Given the description of an element on the screen output the (x, y) to click on. 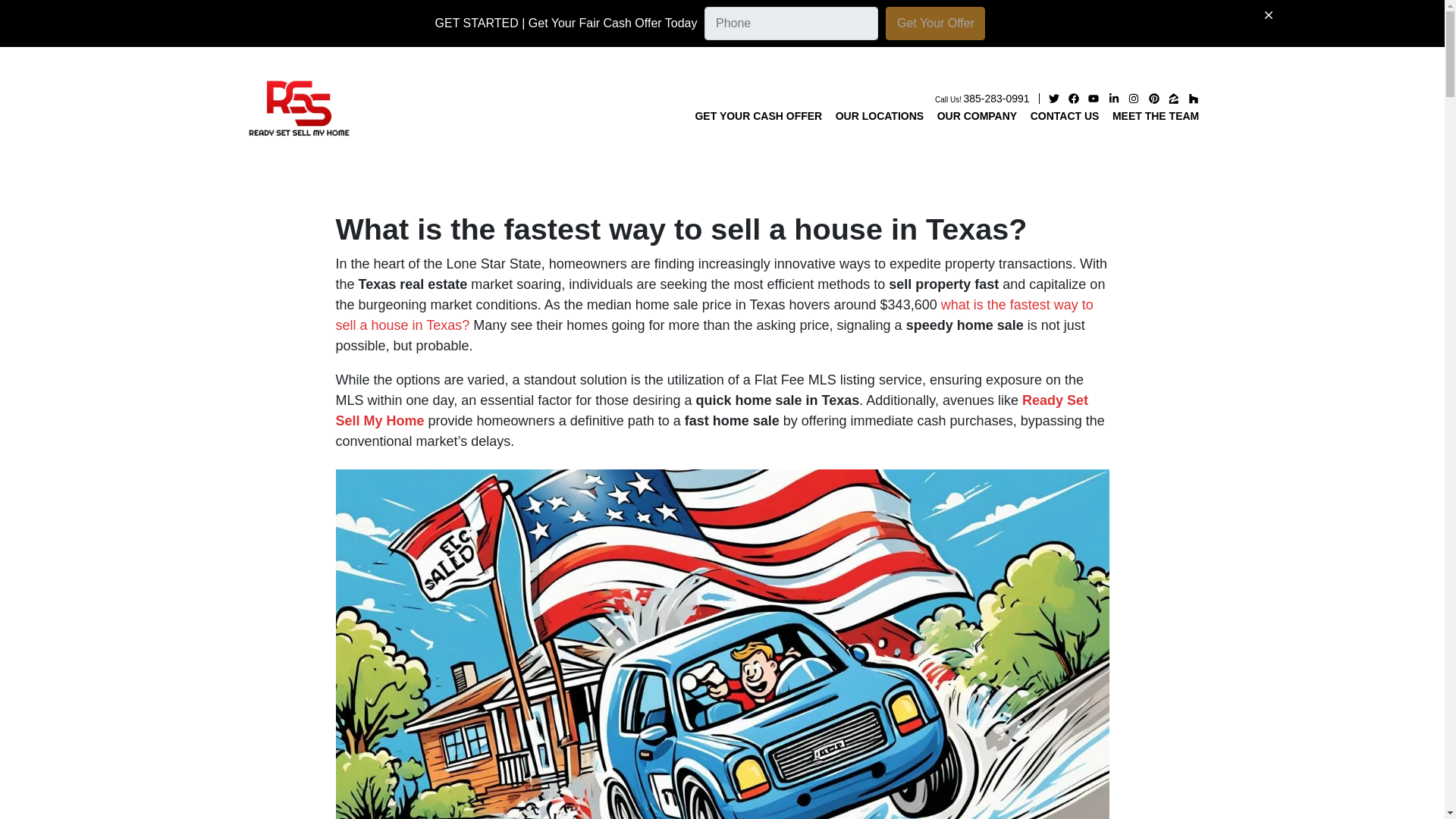
Get Your Offer (935, 23)
OUR COMPANY (977, 116)
YouTube (1093, 98)
Twitter (1053, 98)
Pinterest (1153, 98)
Ready Set Sell My Home (710, 410)
CONTACT US (1064, 116)
GET YOUR CASH OFFER (758, 116)
Get Your Offer (981, 98)
Facebook (935, 23)
Houzz (1073, 98)
what is the fastest way to sell a house in Texas? (1193, 98)
Zillow (713, 314)
MEET THE TEAM (1174, 98)
